Given the description of an element on the screen output the (x, y) to click on. 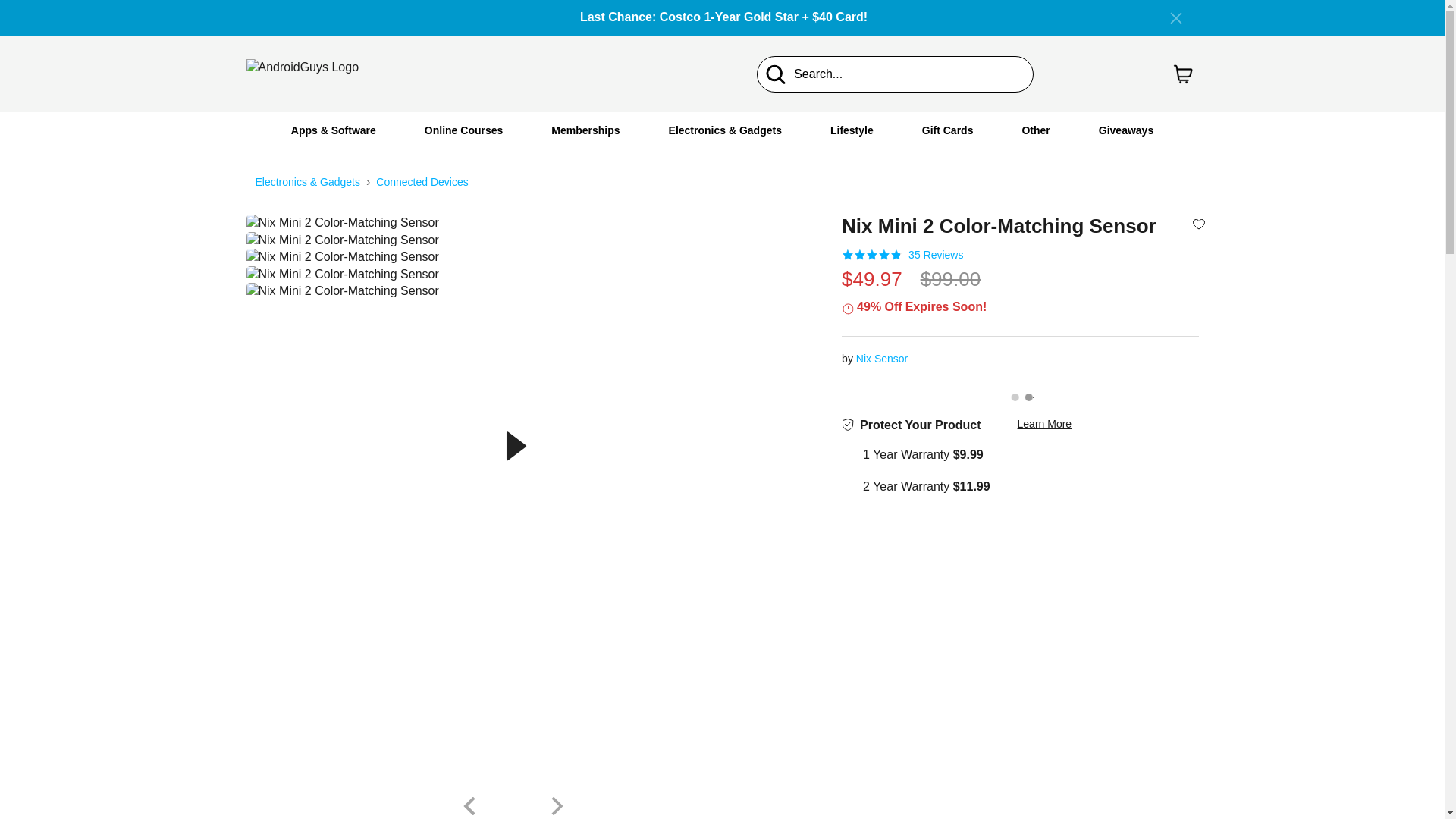
Add to wishlist (1198, 223)
